Given the description of an element on the screen output the (x, y) to click on. 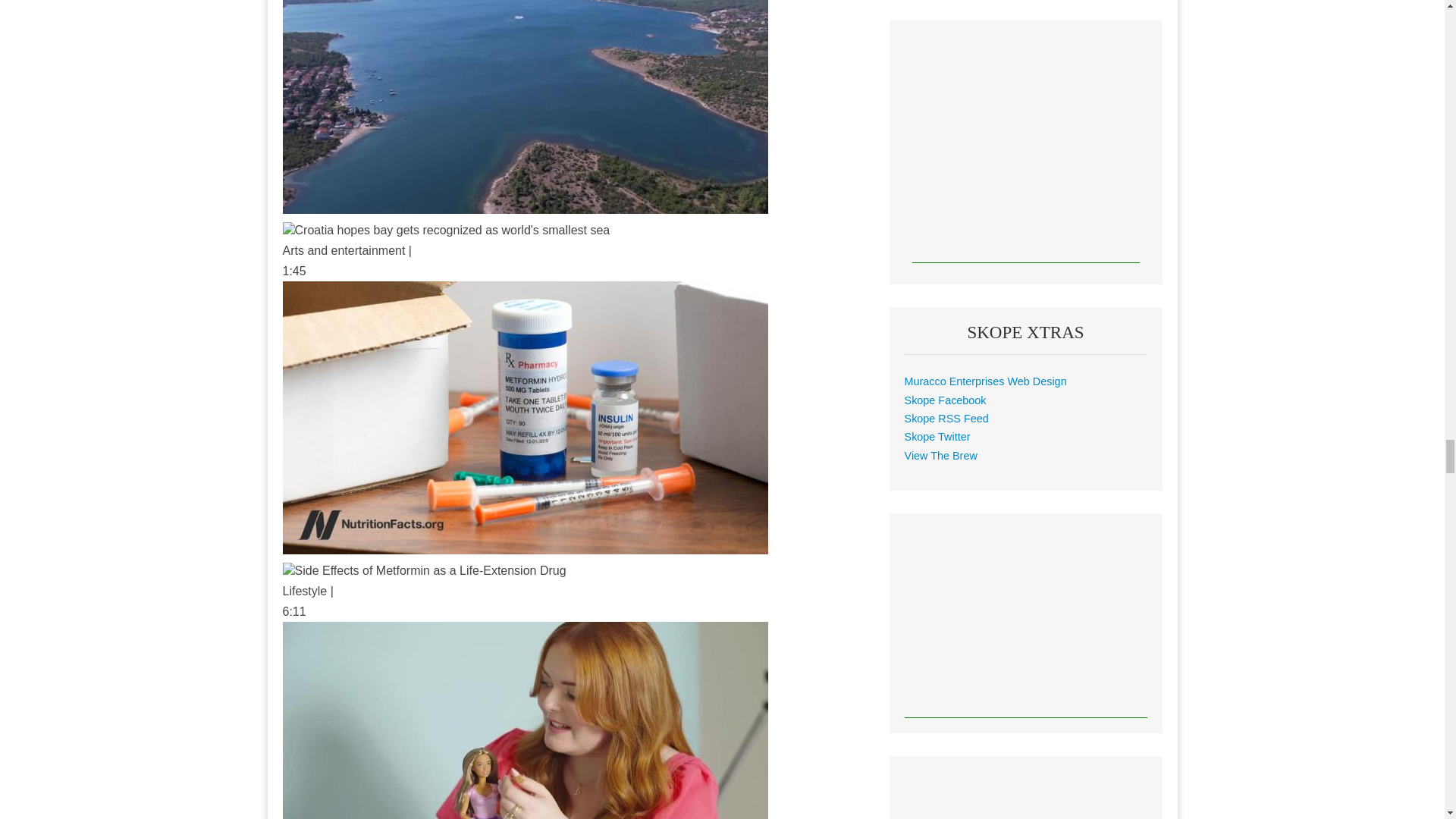
Skopemag.com RSS Feed (946, 418)
